Given the description of an element on the screen output the (x, y) to click on. 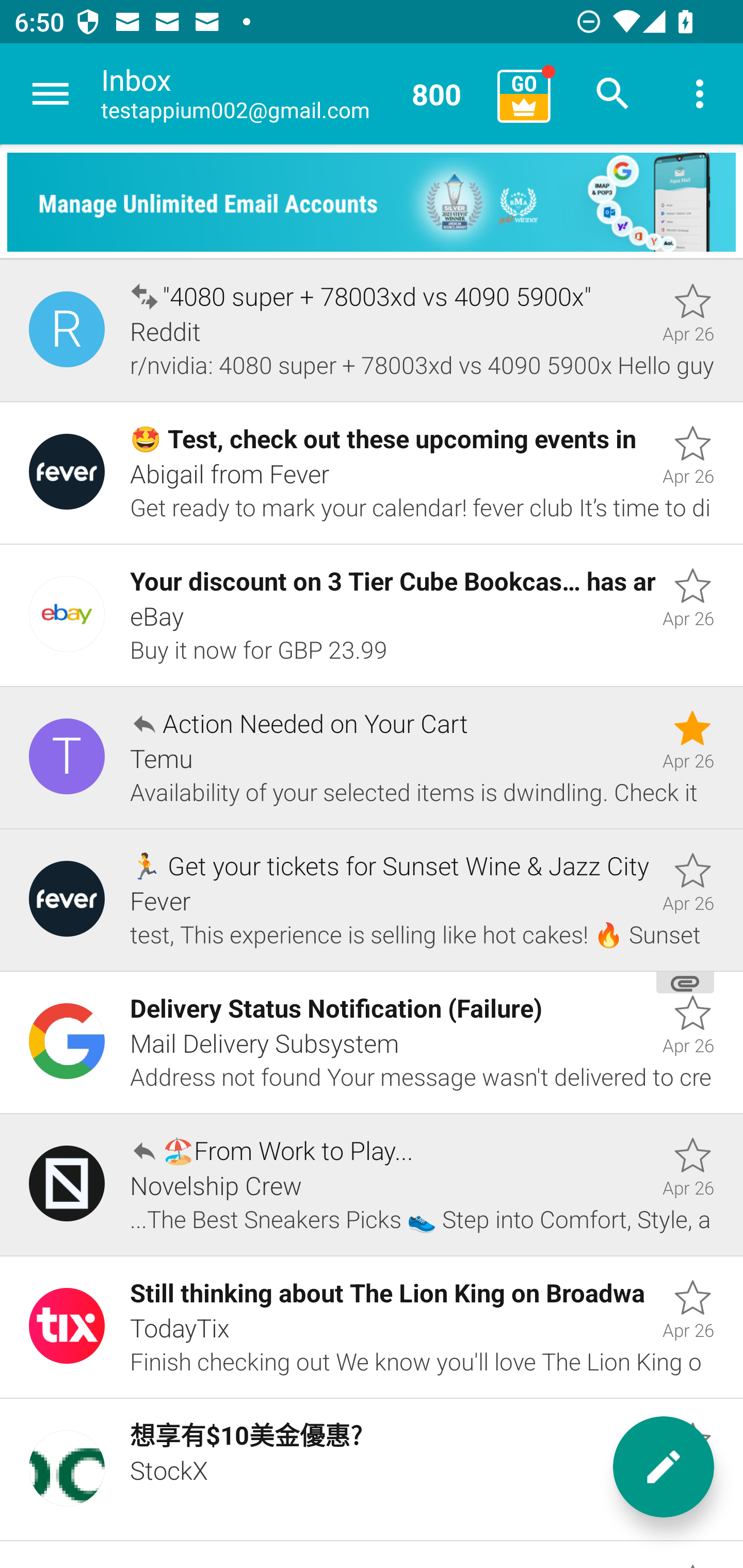
Navigate up (50, 93)
Inbox testappium002@gmail.com 800 (291, 93)
Search (612, 93)
More options (699, 93)
Unread, 想享有$10美金優惠?, StockX, Apr 26 (371, 1469)
New message (663, 1466)
